Given the description of an element on the screen output the (x, y) to click on. 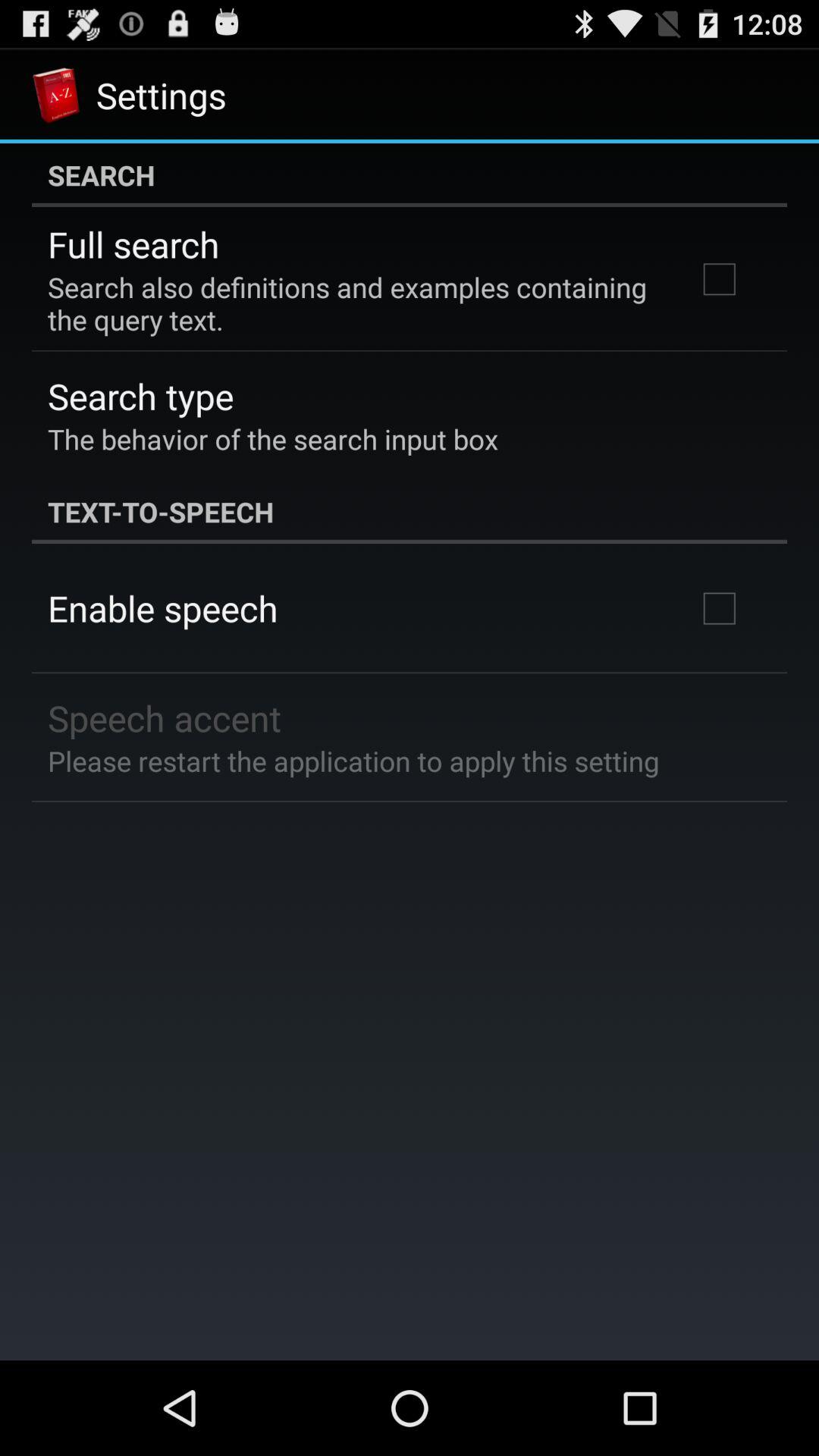
scroll to the search also definitions (351, 303)
